Given the description of an element on the screen output the (x, y) to click on. 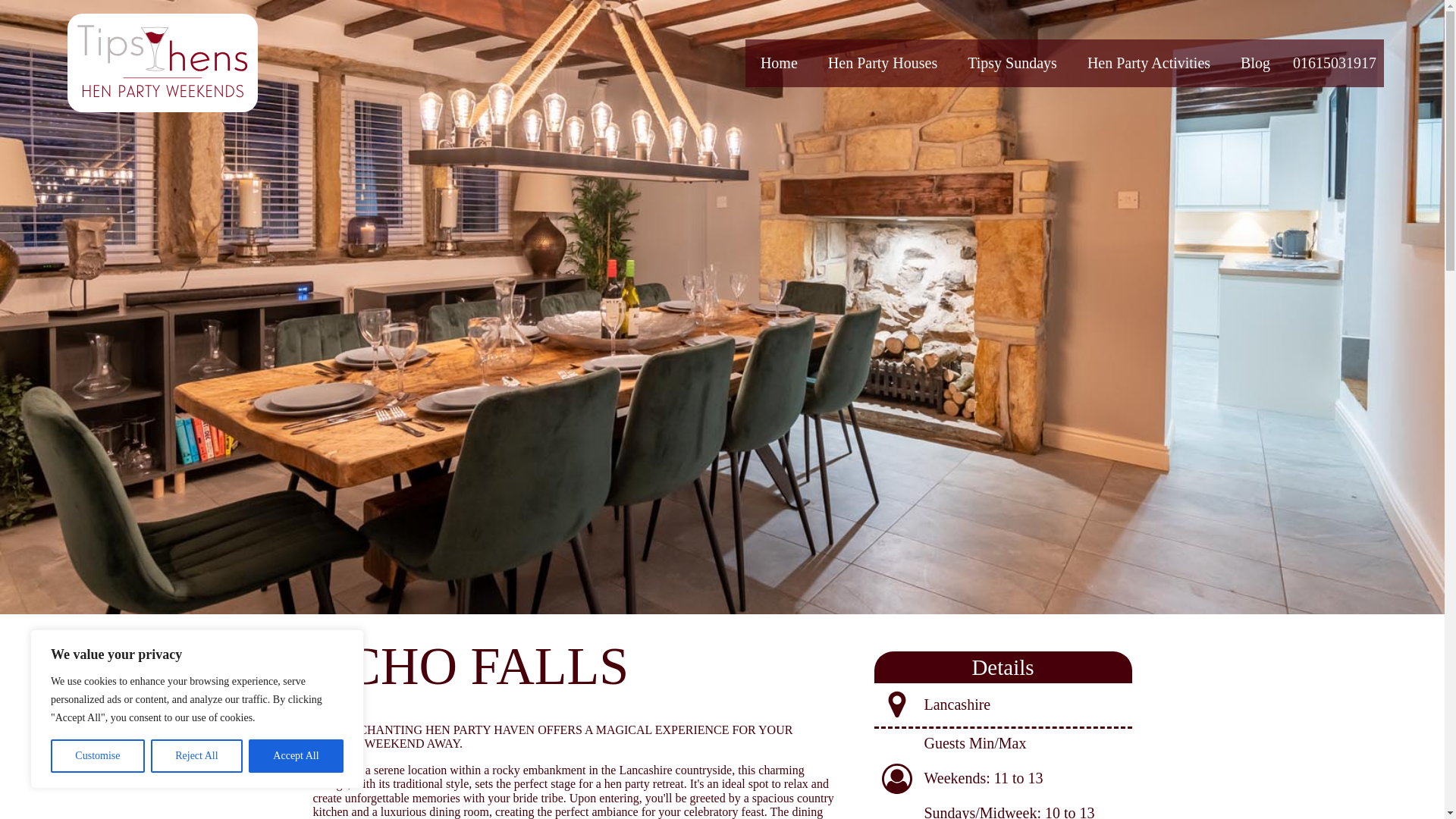
01615031917 (1334, 62)
Home (778, 62)
Hen Party Houses (882, 62)
Tipsy Sundays (1011, 62)
Blog (1255, 62)
Hen Party Activities (1148, 62)
Customise (97, 756)
Accept All (295, 756)
Reject All (197, 756)
